Given the description of an element on the screen output the (x, y) to click on. 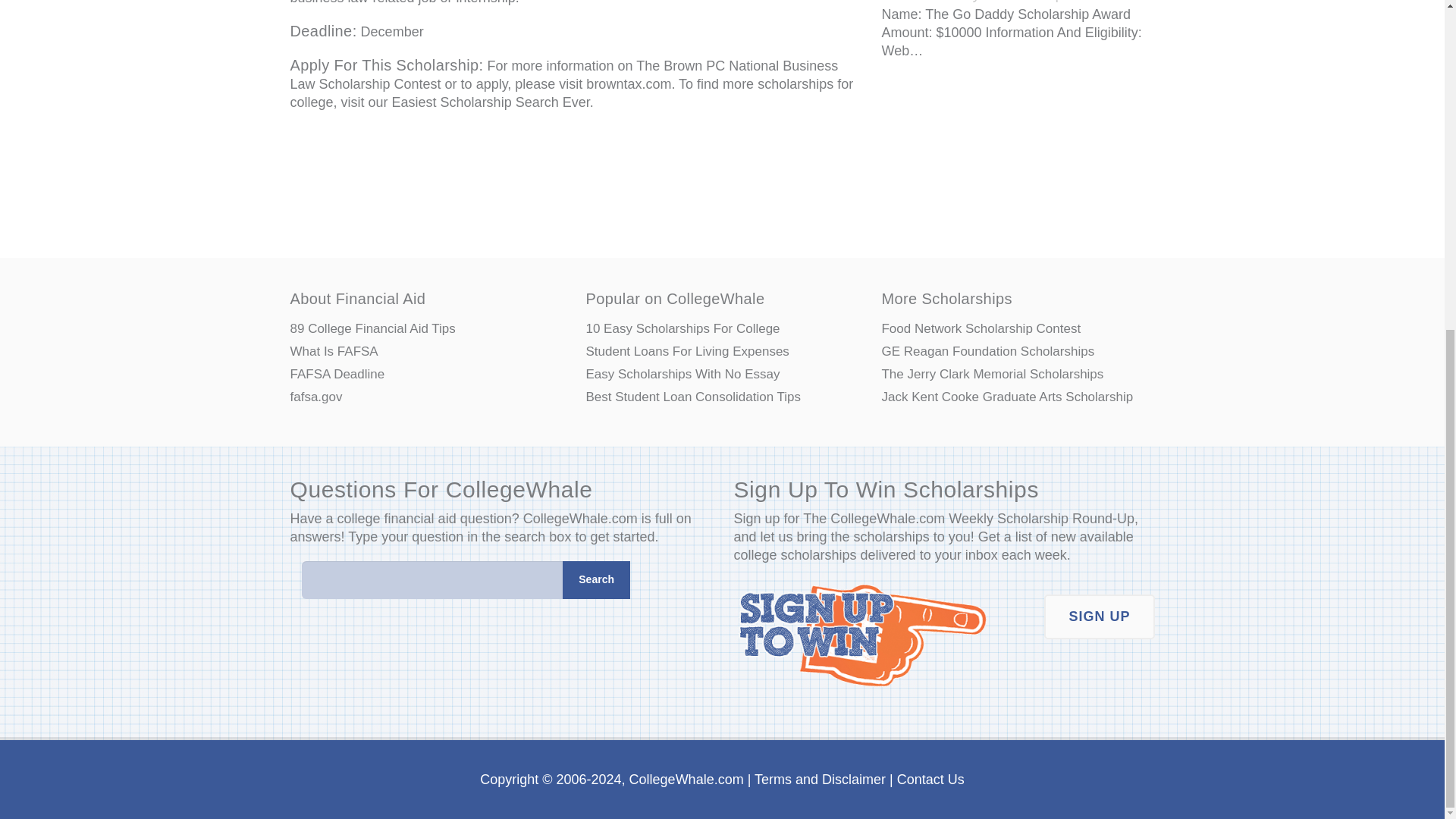
Jack Kent Cooke Graduate Arts Scholarship (1017, 396)
Student Loans For Living Expenses (722, 351)
Food Network Scholarship Contest (1017, 328)
Best Student Loan Consolidation Tips (722, 396)
Advertisement (574, 176)
SIGN UP (1098, 616)
Easy Scholarships With No Essay (722, 374)
10 Easy Scholarships For College (722, 328)
fafsa.gov (425, 396)
The Go Daddy Scholarship (971, 1)
